Given the description of an element on the screen output the (x, y) to click on. 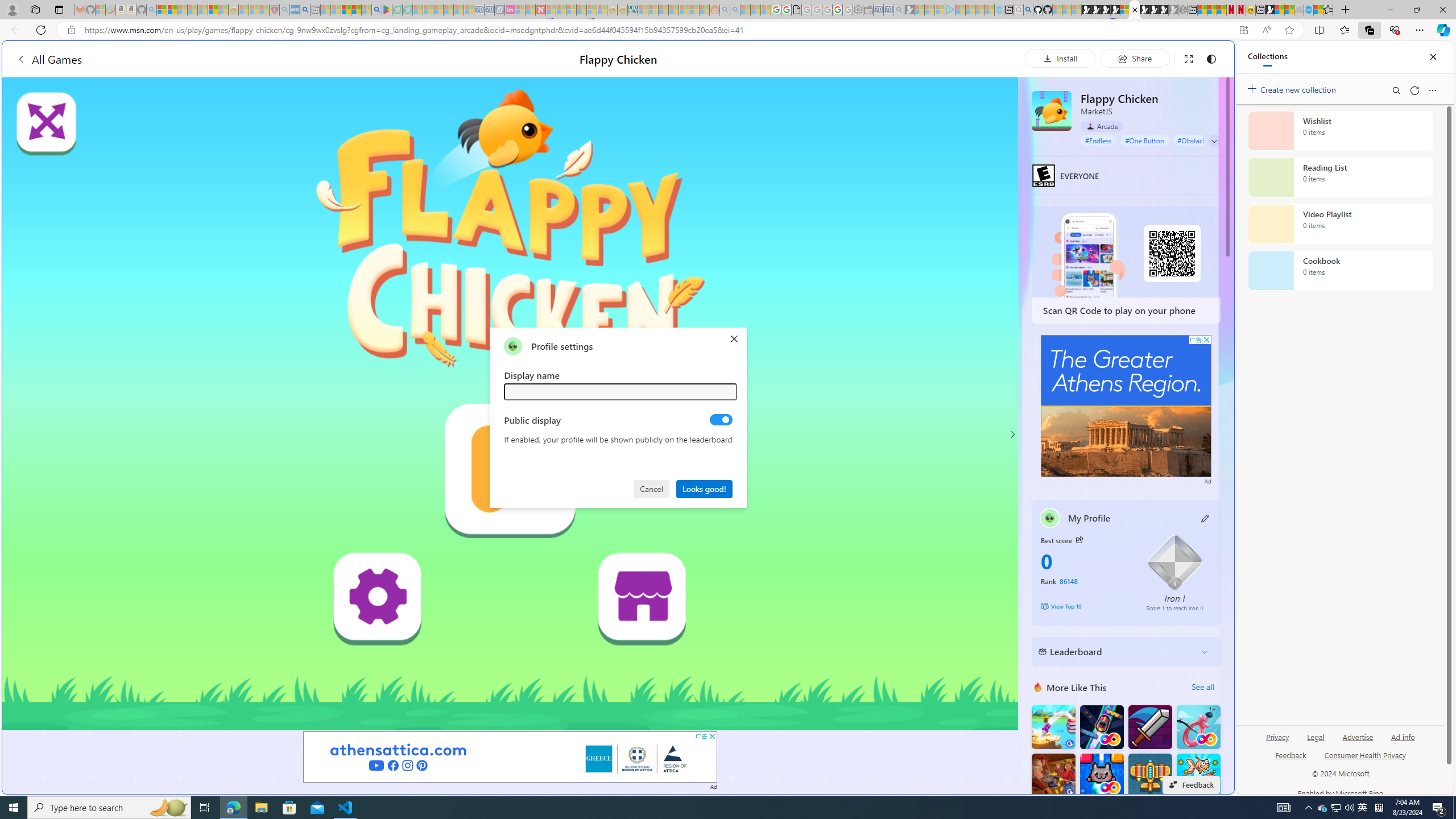
Search or enter web address (922, 108)
Share (1134, 58)
github - Search (1028, 9)
Class: button (1079, 539)
Knife Flip (1053, 726)
Cancel (651, 488)
Reading List collection, 0 items (1339, 177)
Dungeon Master Knight (1149, 726)
Install (1060, 58)
